Given the description of an element on the screen output the (x, y) to click on. 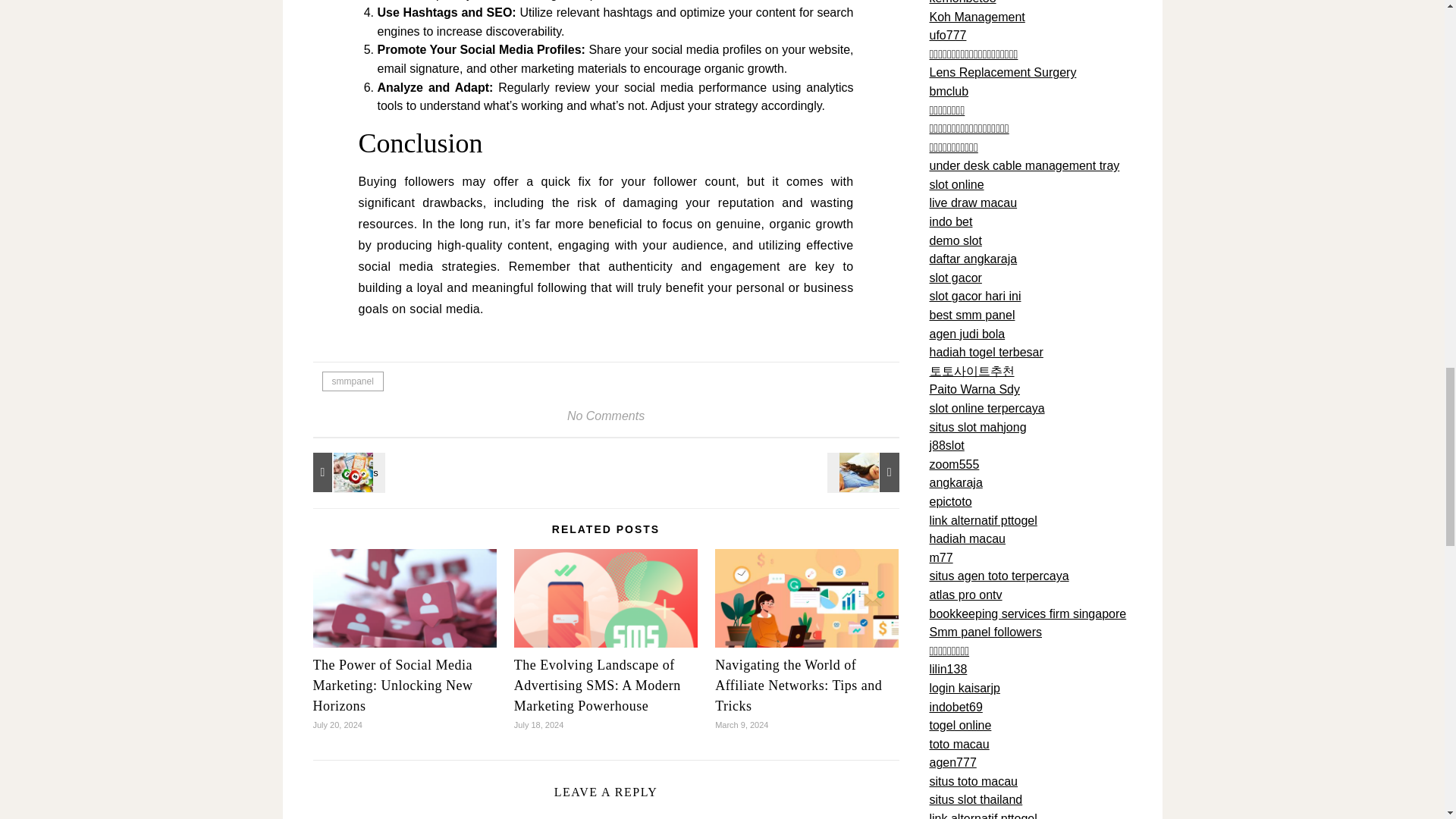
The Power of Social Media Marketing: Unlocking New Horizons (392, 685)
smmpanel (351, 381)
No Comments (606, 415)
Navigating the World of Affiliate Networks: Tips and Tricks (798, 685)
